Given the description of an element on the screen output the (x, y) to click on. 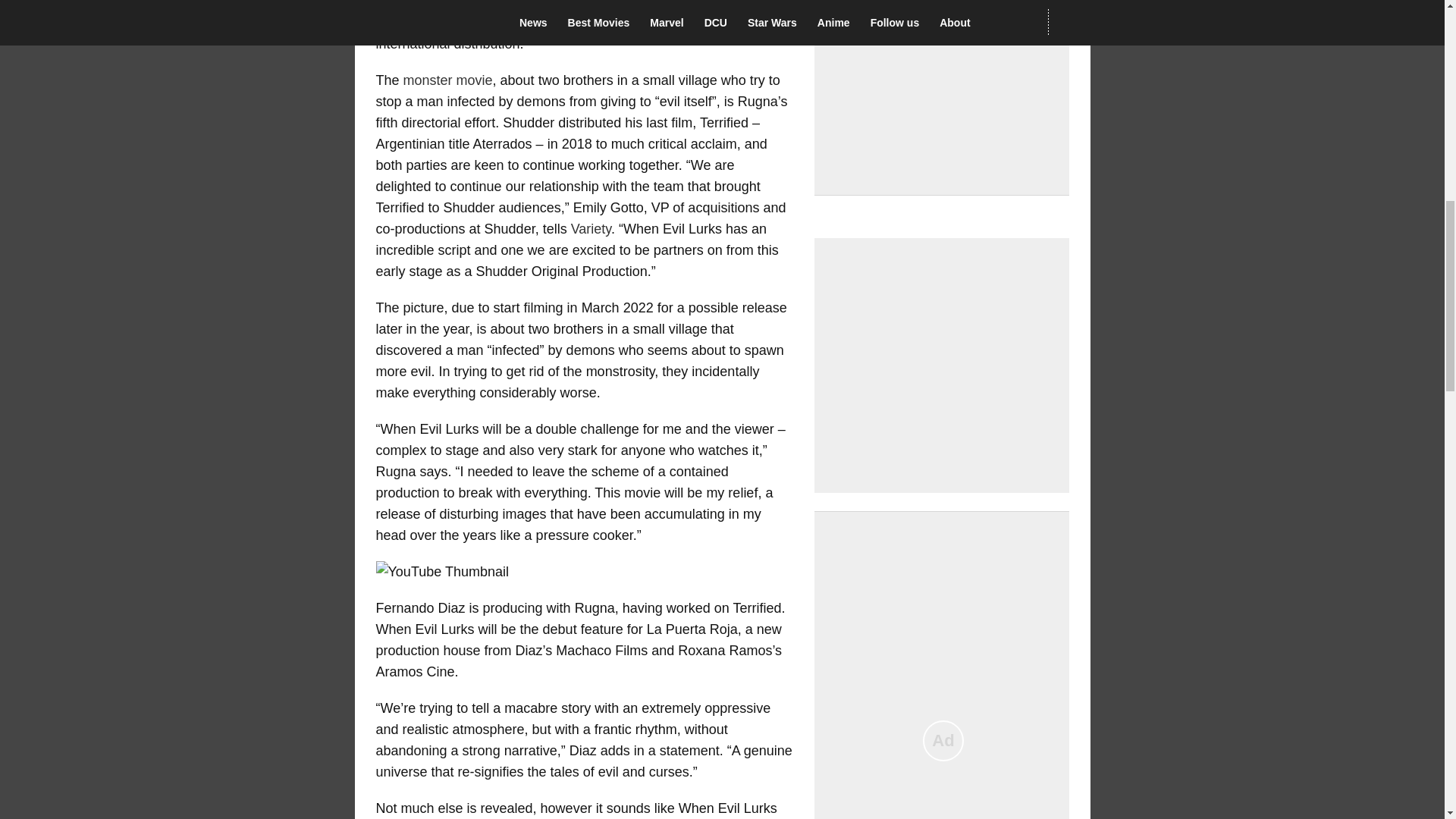
monster movie (448, 79)
streaming service (662, 22)
Variety (590, 228)
